Given the description of an element on the screen output the (x, y) to click on. 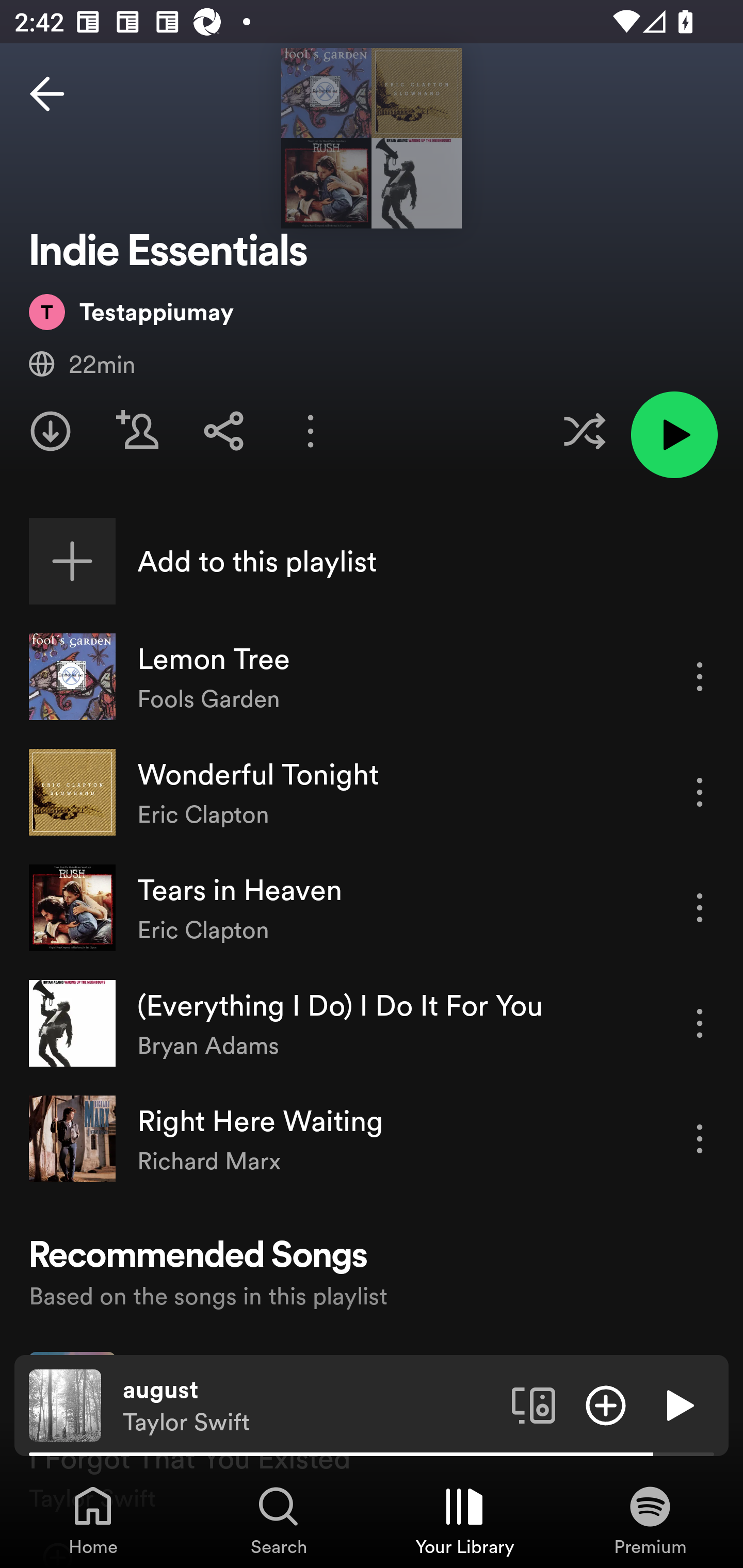
Back (46, 93)
Testappiumay (131, 312)
Download (50, 431)
Invite Friends for playlist (136, 431)
More options for playlist Indie Essentials (310, 431)
Enable shuffle for this playlist (583, 431)
Play playlist (674, 434)
Add to this playlist (371, 561)
More options for song Lemon Tree (699, 676)
More options for song Wonderful Tonight (699, 792)
More options for song Tears in Heaven (699, 907)
More options for song Right Here Waiting (699, 1139)
august Taylor Swift (309, 1405)
The cover art of the currently playing track (64, 1404)
Connect to a device. Opens the devices menu (533, 1404)
Add item (605, 1404)
Play (677, 1404)
Home, Tab 1 of 4 Home Home (92, 1519)
Search, Tab 2 of 4 Search Search (278, 1519)
Your Library, Tab 3 of 4 Your Library Your Library (464, 1519)
Premium, Tab 4 of 4 Premium Premium (650, 1519)
